Given the description of an element on the screen output the (x, y) to click on. 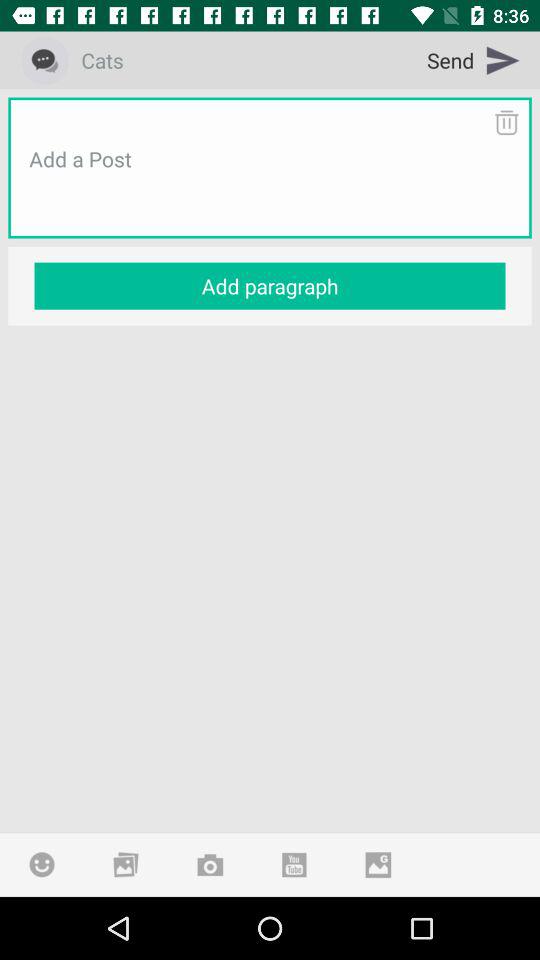
shows add a post to upload (269, 183)
